Given the description of an element on the screen output the (x, y) to click on. 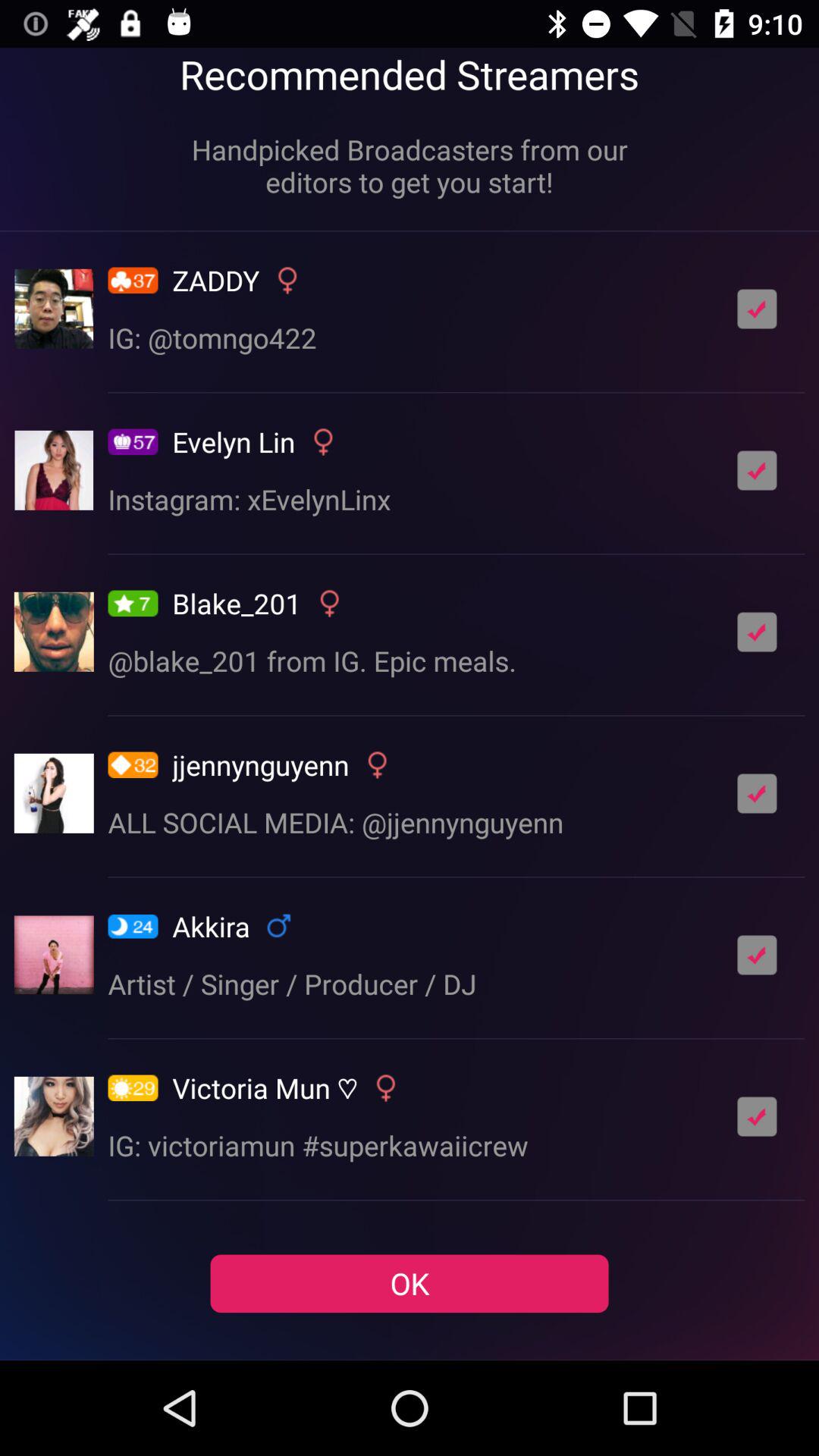
uncheck follow (756, 308)
